Given the description of an element on the screen output the (x, y) to click on. 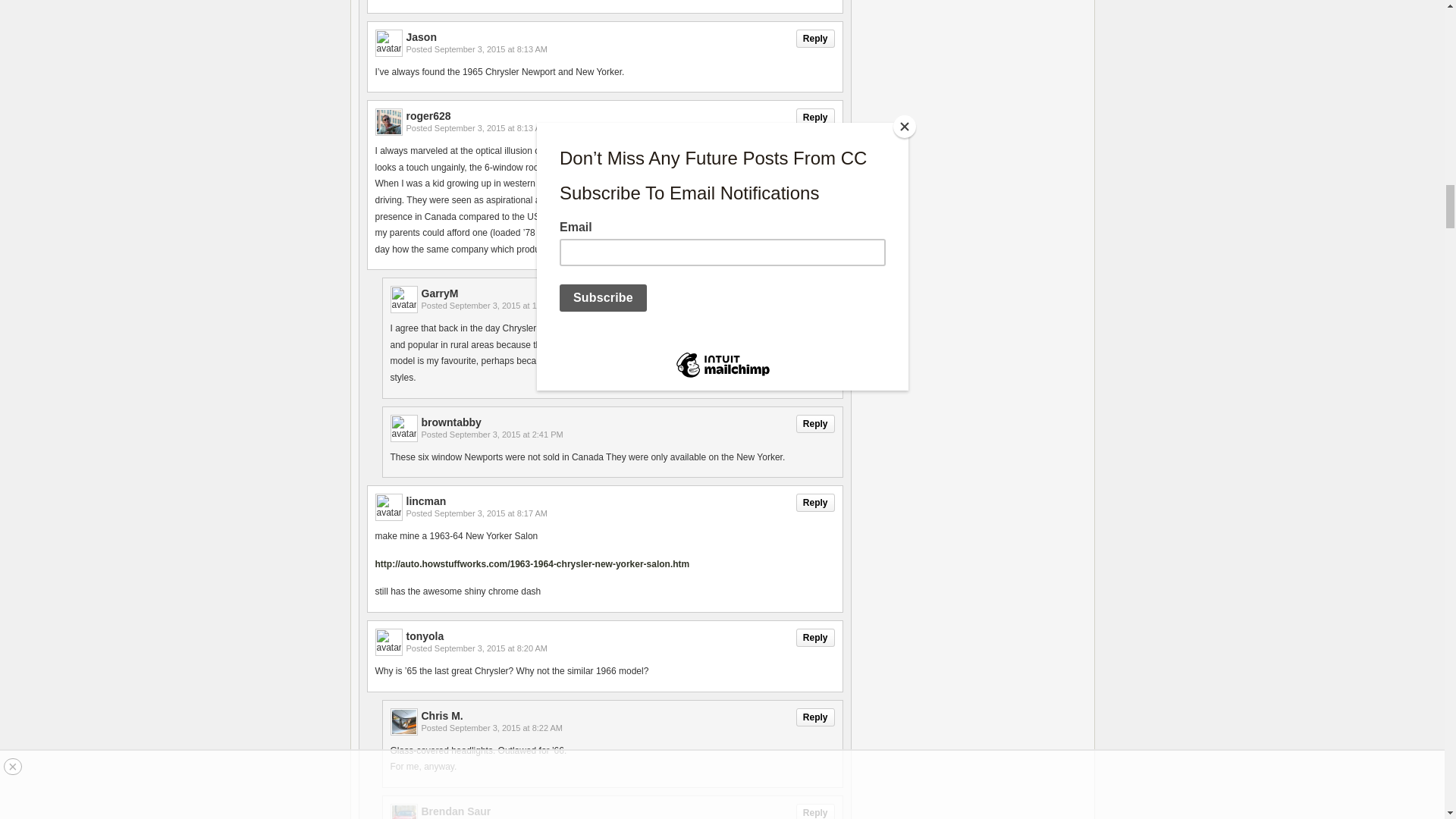
2015-09-03T08:13:35-07:00 (490, 49)
2015-09-03T14:41:06-07:00 (506, 433)
2015-09-03T08:20:34-07:00 (490, 647)
2015-09-03T08:22:53-07:00 (505, 727)
2015-09-03T08:13:50-07:00 (490, 127)
2015-09-03T08:17:18-07:00 (490, 512)
2015-09-03T11:24:40-07:00 (508, 305)
